Given the description of an element on the screen output the (x, y) to click on. 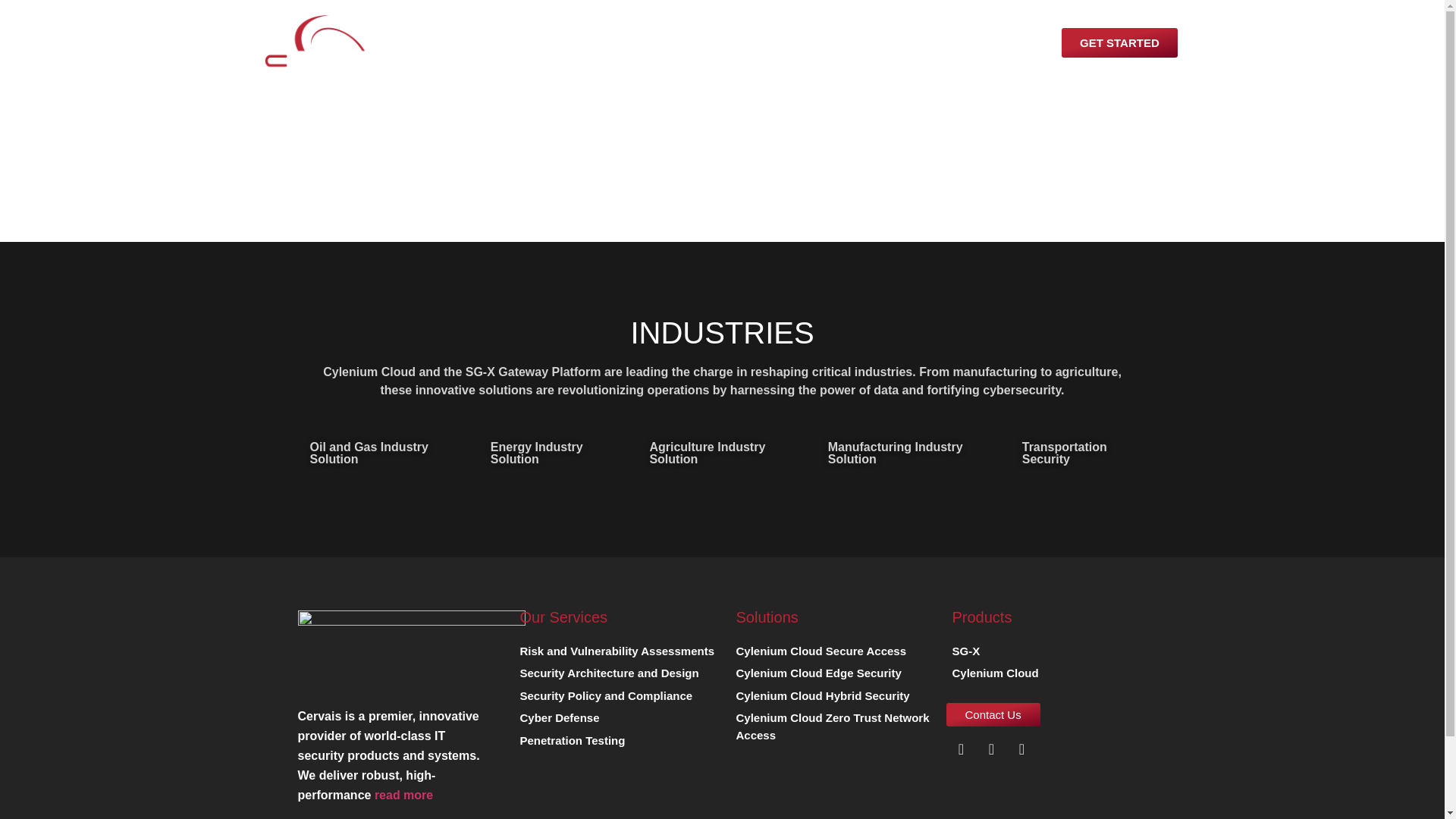
Resources (857, 42)
Services (700, 42)
GET STARTED (1119, 42)
Risk and Vulnerability Assessments (613, 653)
Cylenium Cloud Hybrid Security (818, 698)
Penetration Testing (569, 743)
Contact (935, 42)
read more (403, 794)
Products (541, 42)
Industries (776, 42)
